Given the description of an element on the screen output the (x, y) to click on. 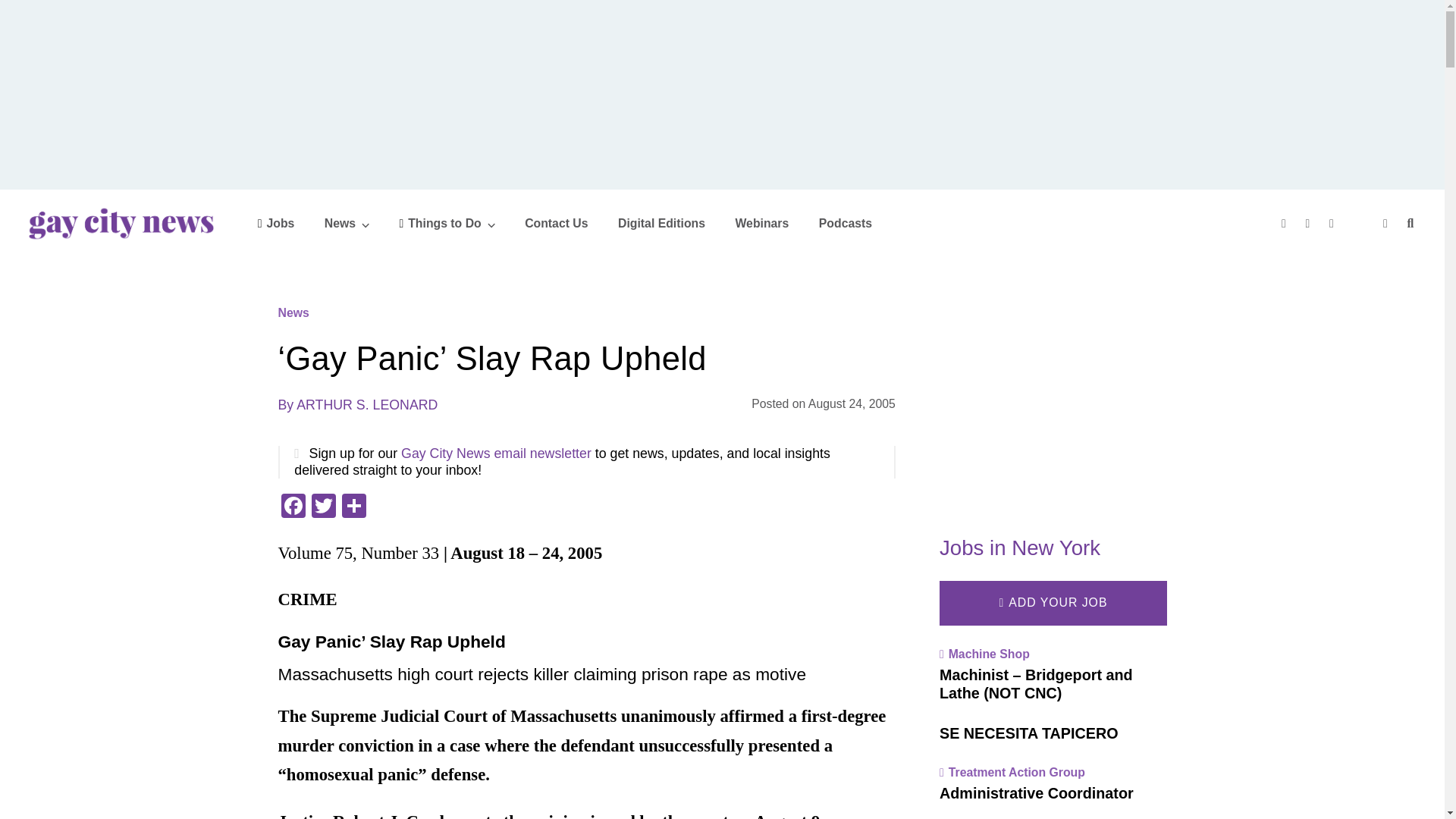
Twitter (1310, 223)
Facebook (292, 507)
News (346, 223)
Webinars (762, 223)
Facebook (1285, 223)
Podcasts (845, 223)
Things to Do (446, 223)
Twitter (322, 507)
Jobs (276, 223)
Instagram (1333, 223)
Digital Editions (660, 223)
Contact Us (556, 223)
